Given the description of an element on the screen output the (x, y) to click on. 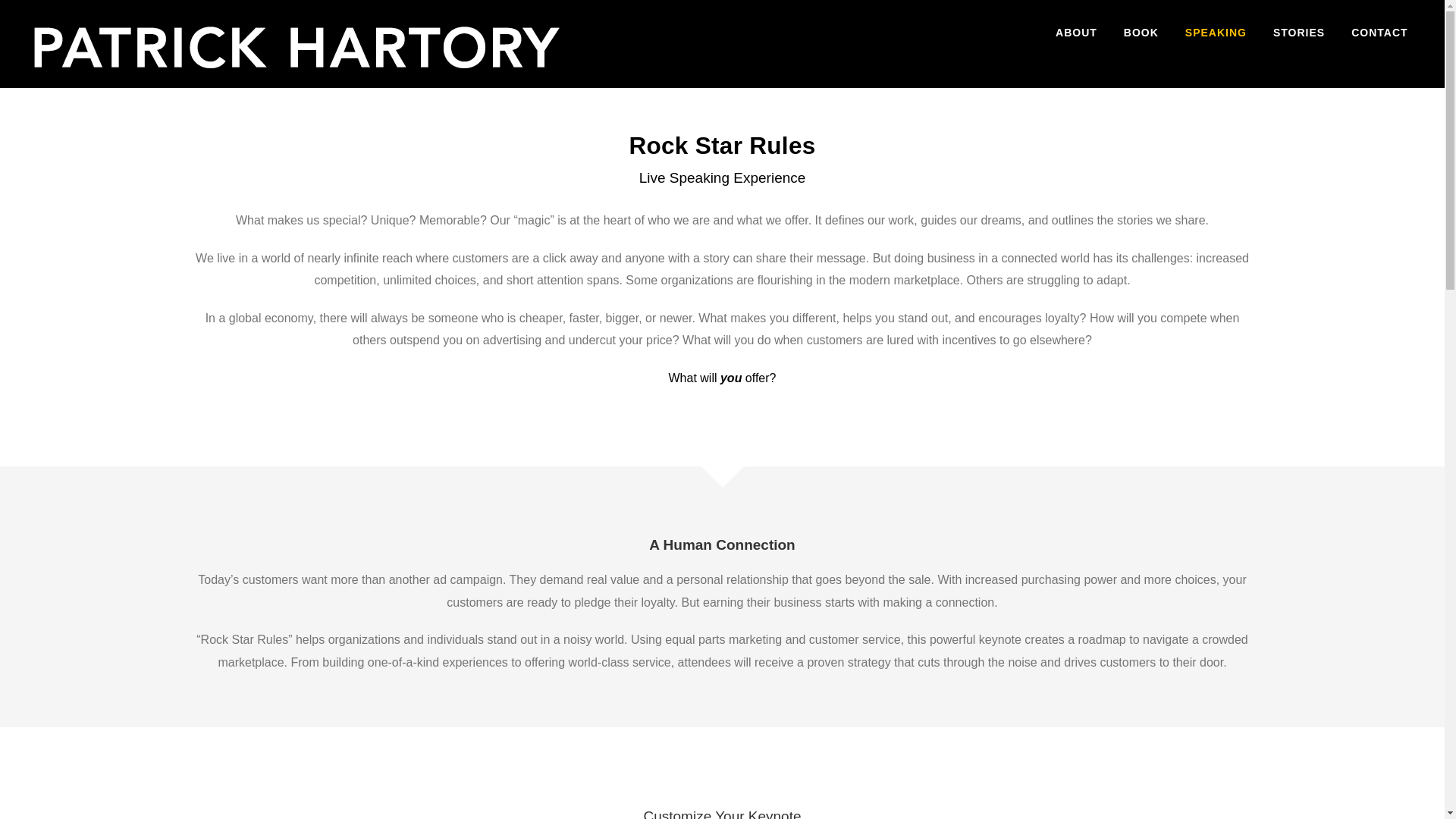
CONTACT (1379, 32)
BOOK (1141, 32)
SPEAKING (1215, 32)
STORIES (1298, 32)
Contact (1379, 32)
ABOUT (1076, 32)
